Given the description of an element on the screen output the (x, y) to click on. 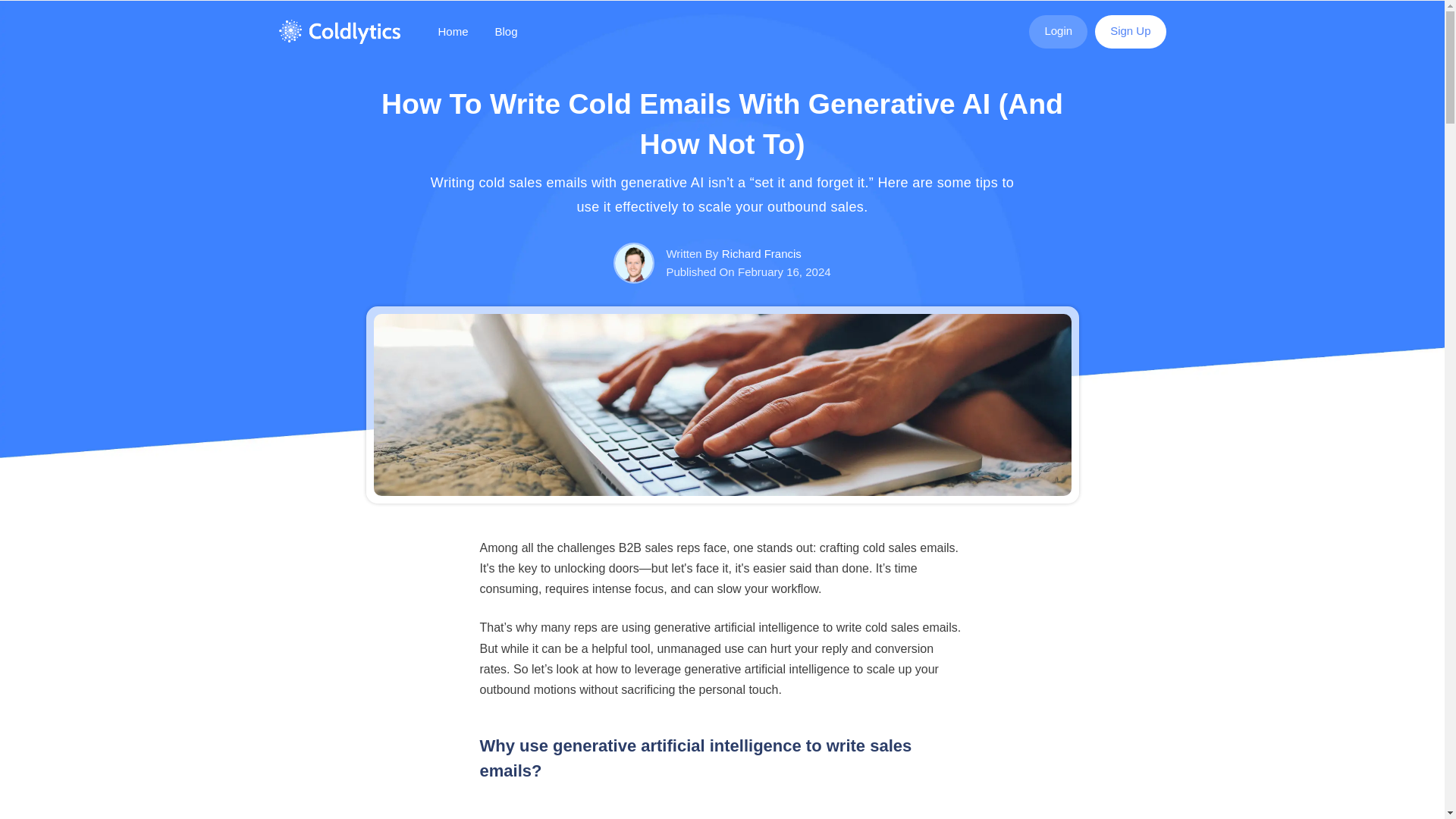
Login (1058, 31)
Blog (506, 31)
Sign Up (1130, 31)
Richard Francis (762, 253)
Home (452, 31)
